Given the description of an element on the screen output the (x, y) to click on. 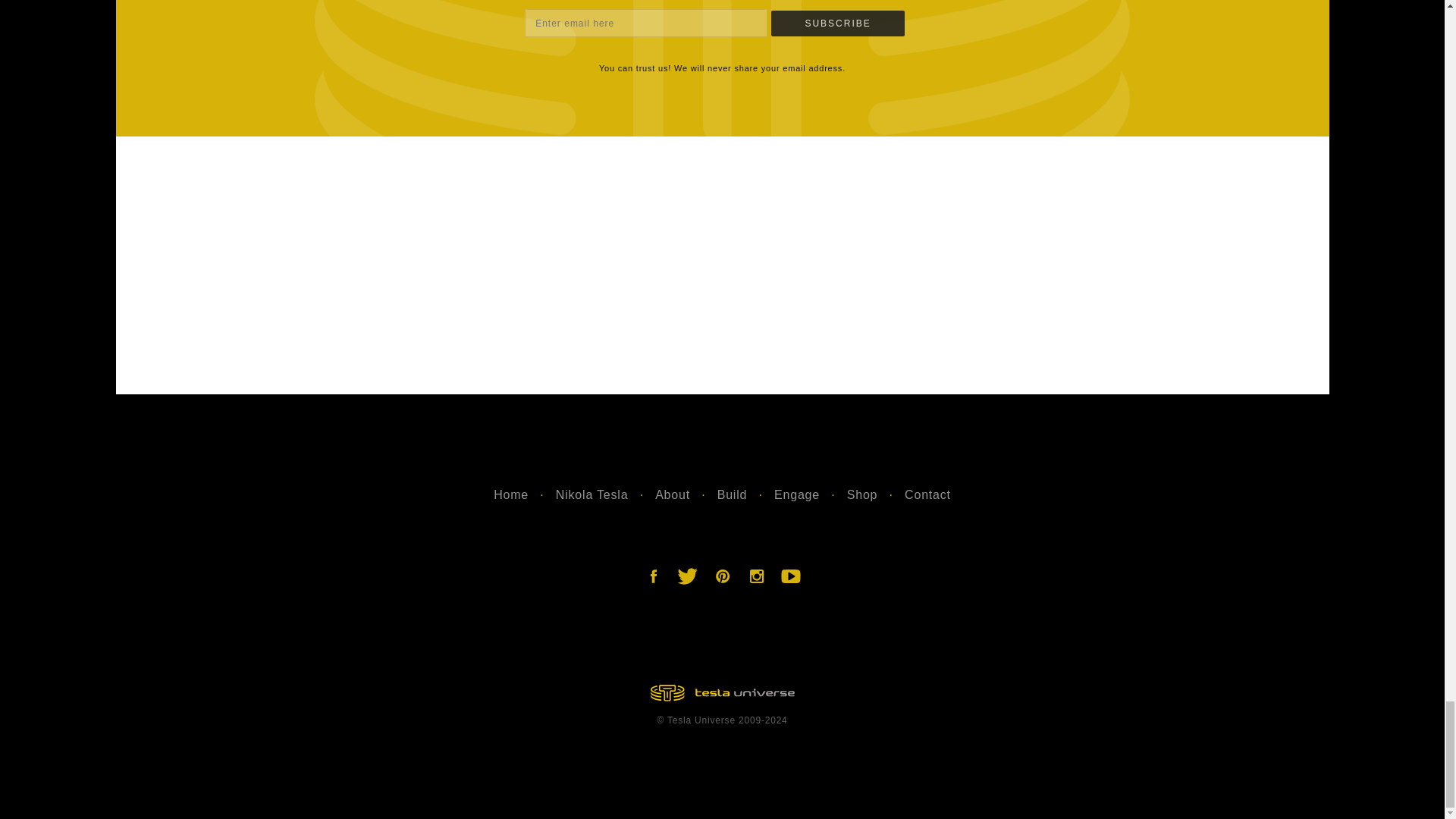
Subscribe (837, 23)
